Given the description of an element on the screen output the (x, y) to click on. 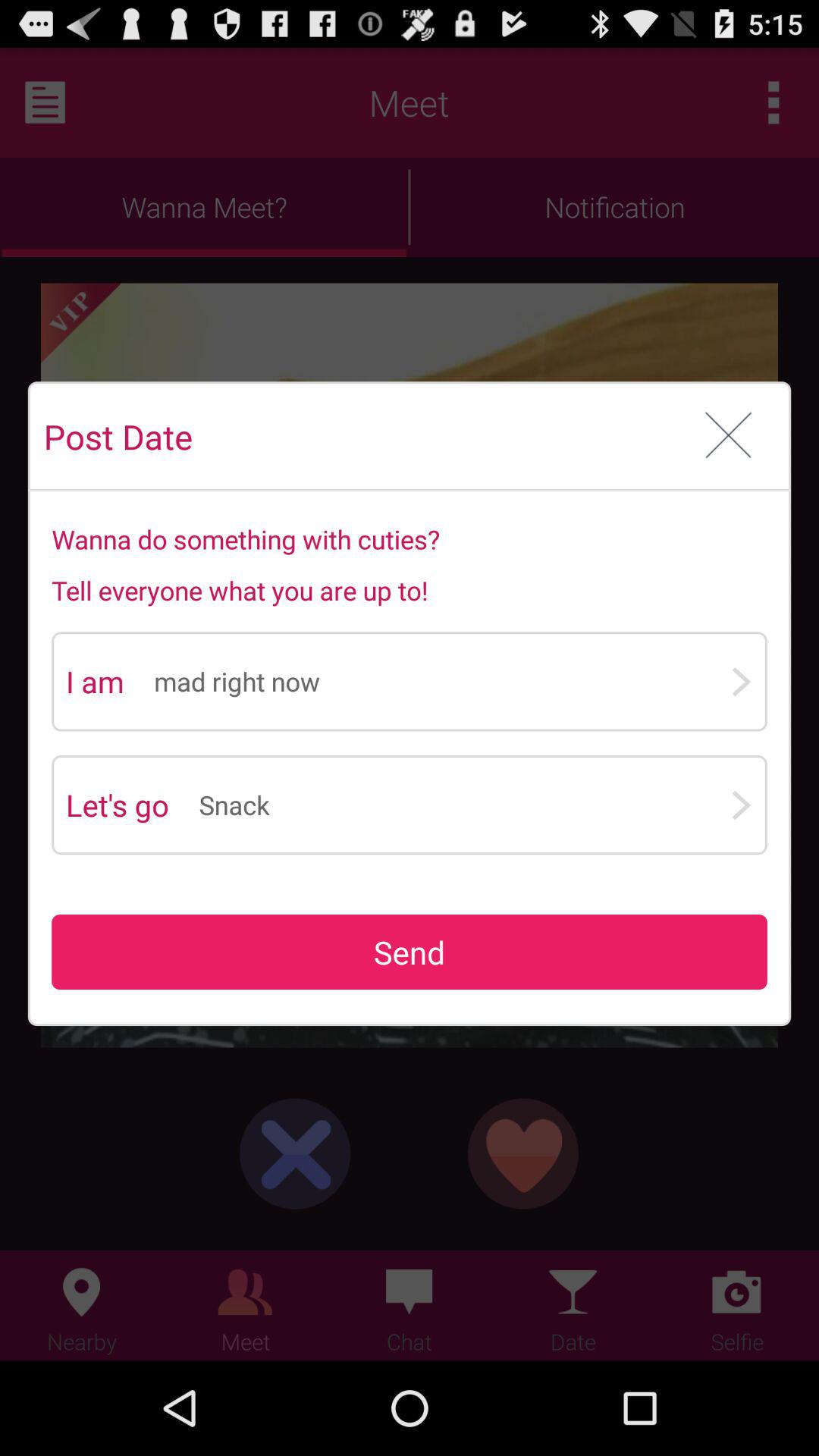
turn on the app next to post date app (728, 436)
